Given the description of an element on the screen output the (x, y) to click on. 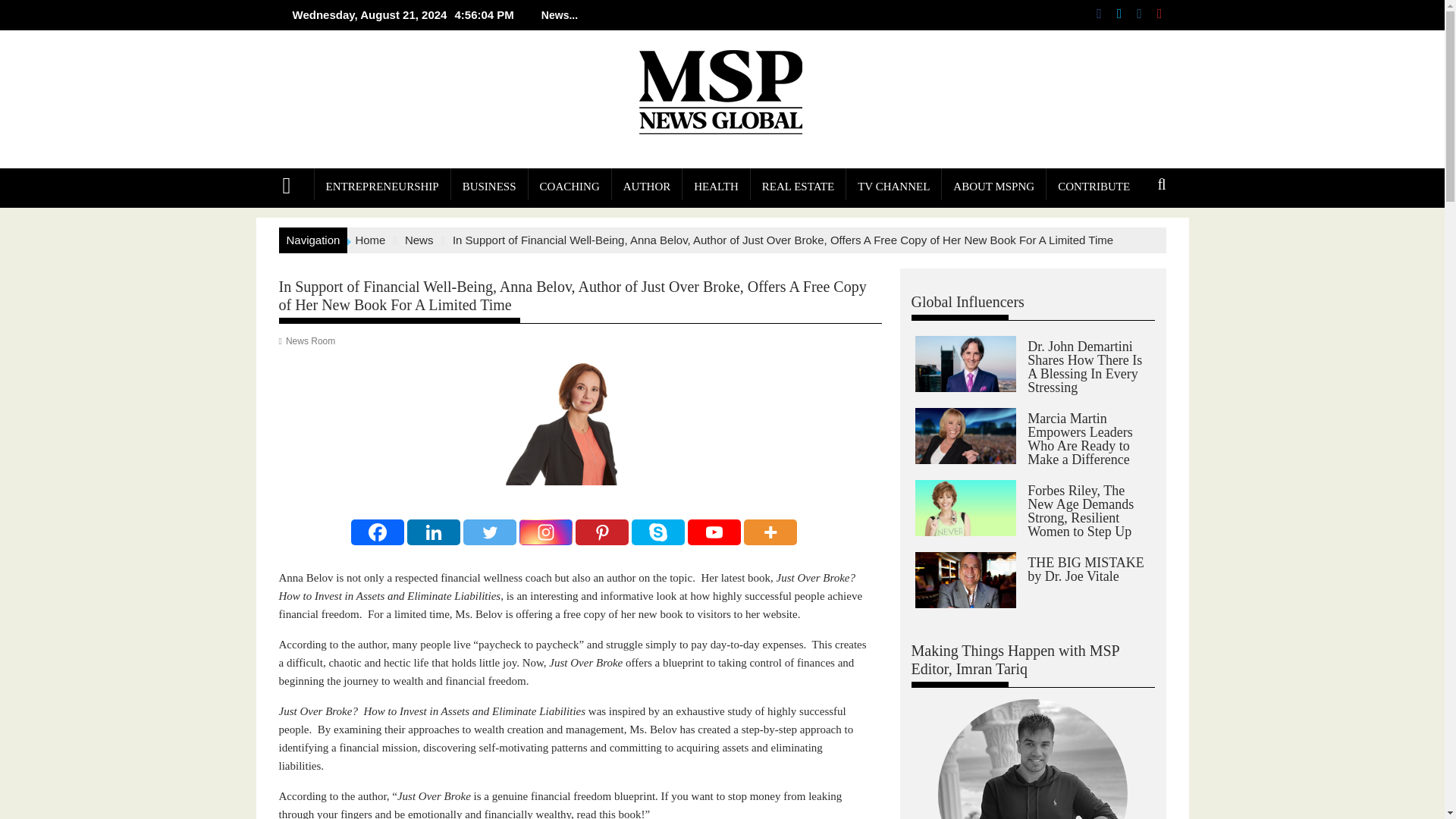
COACHING (569, 186)
MSPNG Coaching (569, 186)
News (418, 239)
MSPNG Health (715, 186)
MSPNG Author (646, 186)
MSPNG Business (489, 186)
News Room (309, 340)
HEALTH (715, 186)
ENTREPRENEURSHIP (381, 186)
REAL ESTATE (798, 186)
